Given the description of an element on the screen output the (x, y) to click on. 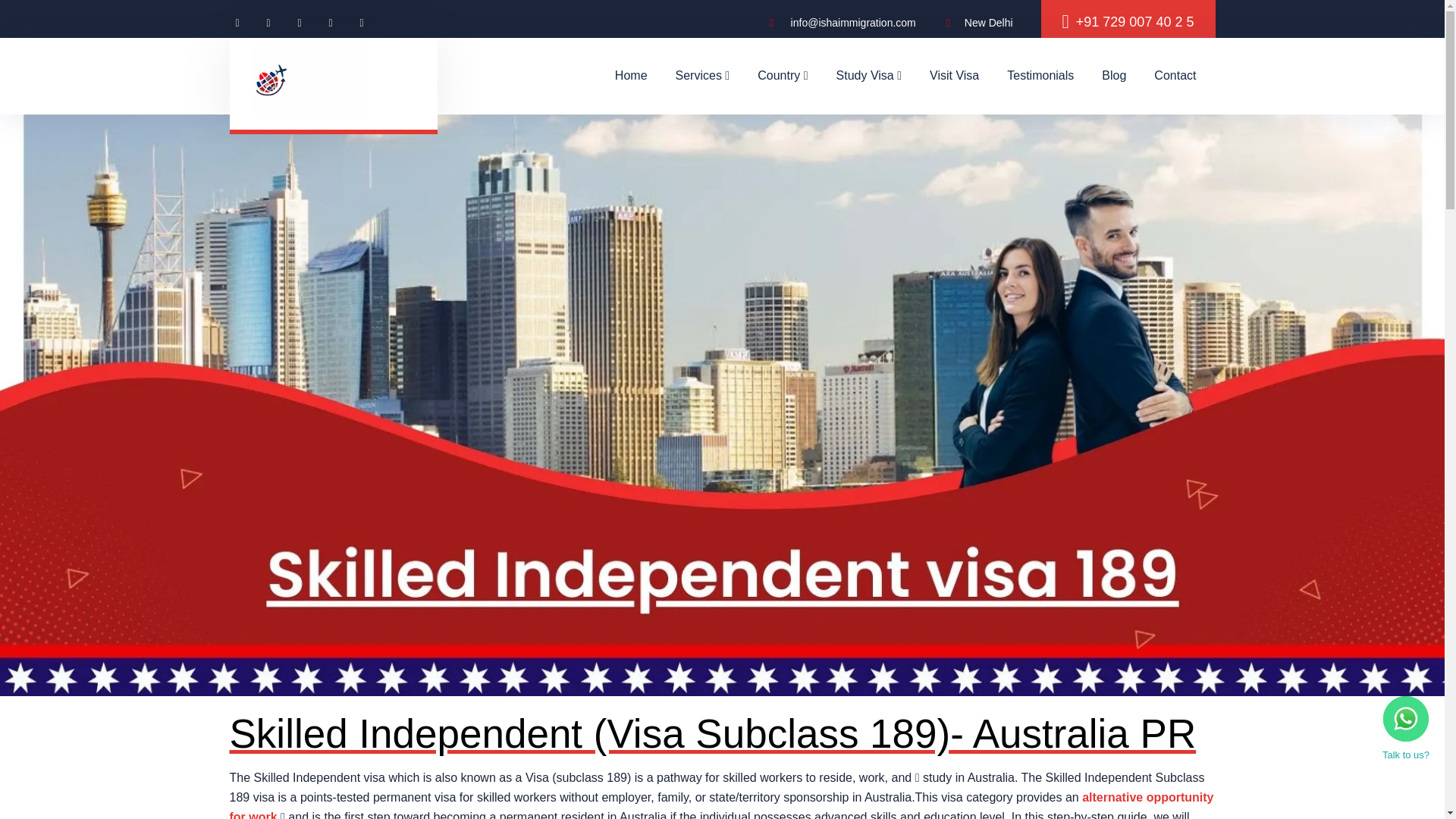
New Delhi (979, 23)
